Given the description of an element on the screen output the (x, y) to click on. 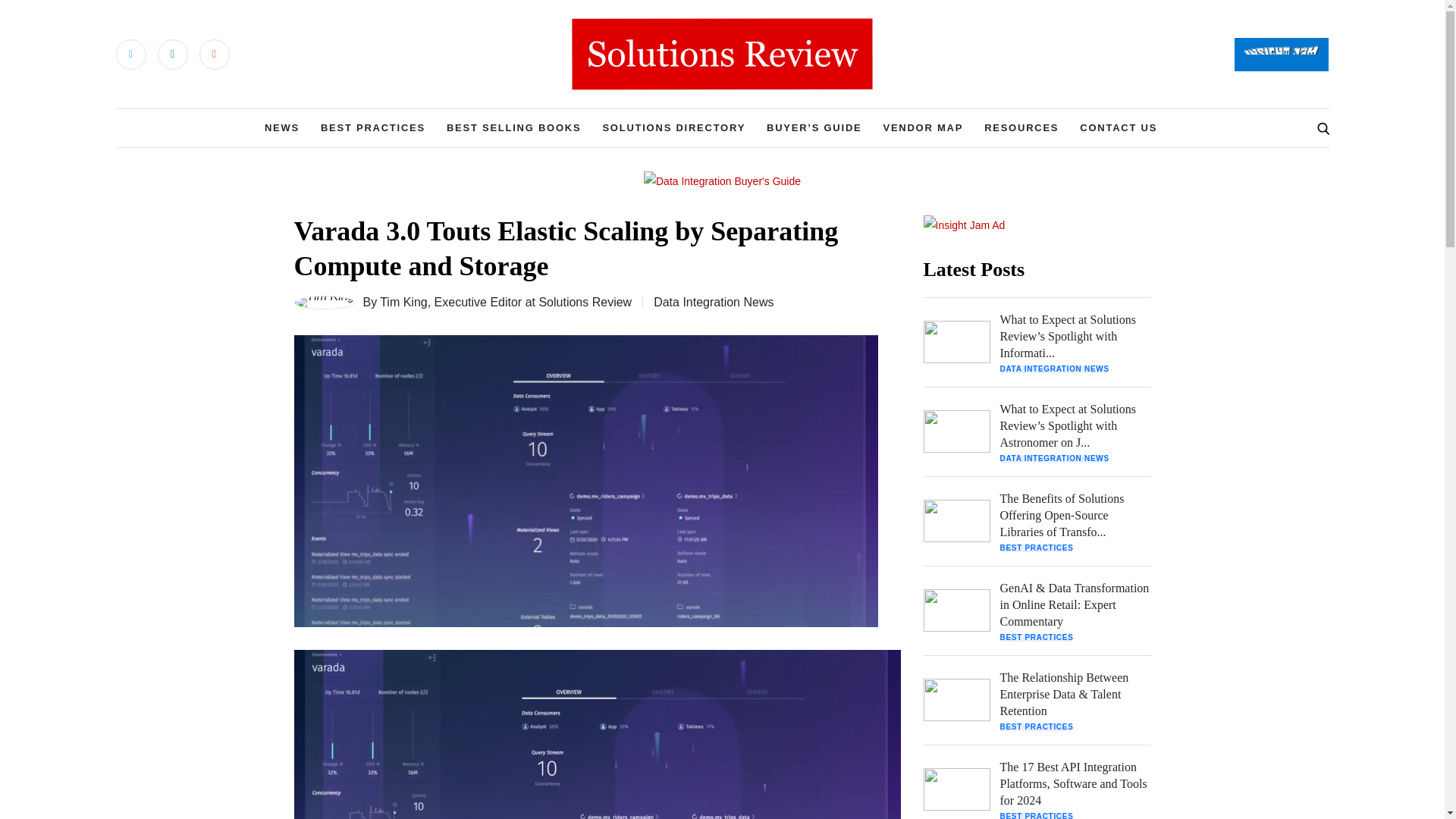
VENDOR MAP (922, 127)
Data Integration News (713, 301)
NEWS (281, 127)
SOLUTIONS DIRECTORY (673, 127)
RESOURCES (1021, 127)
BEST PRACTICES (372, 127)
CONTACT US (1118, 127)
BEST SELLING BOOKS (513, 127)
Insight Jam Ad (964, 225)
Tim King (404, 302)
